Given the description of an element on the screen output the (x, y) to click on. 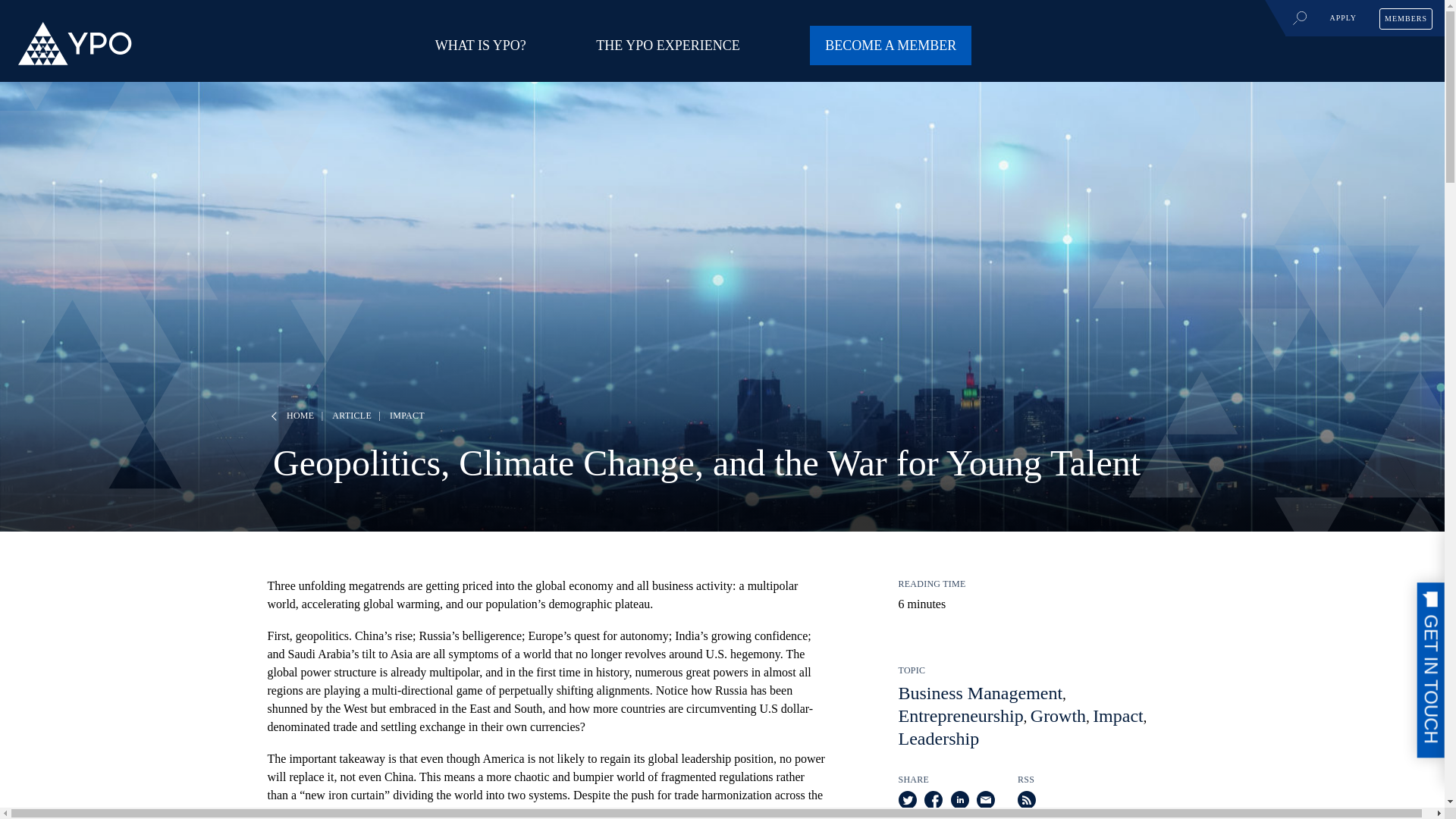
WHAT IS YPO? (480, 45)
Email a link to this Article (985, 804)
Share this Article on LinkedIn (959, 804)
Subscribe via RSS (1026, 804)
APPLY (1342, 17)
MEMBERS (1405, 17)
THE YPO EXPERIENCE (667, 45)
Share this Article on Twitter (907, 804)
BECOME A MEMBER (890, 45)
